Given the description of an element on the screen output the (x, y) to click on. 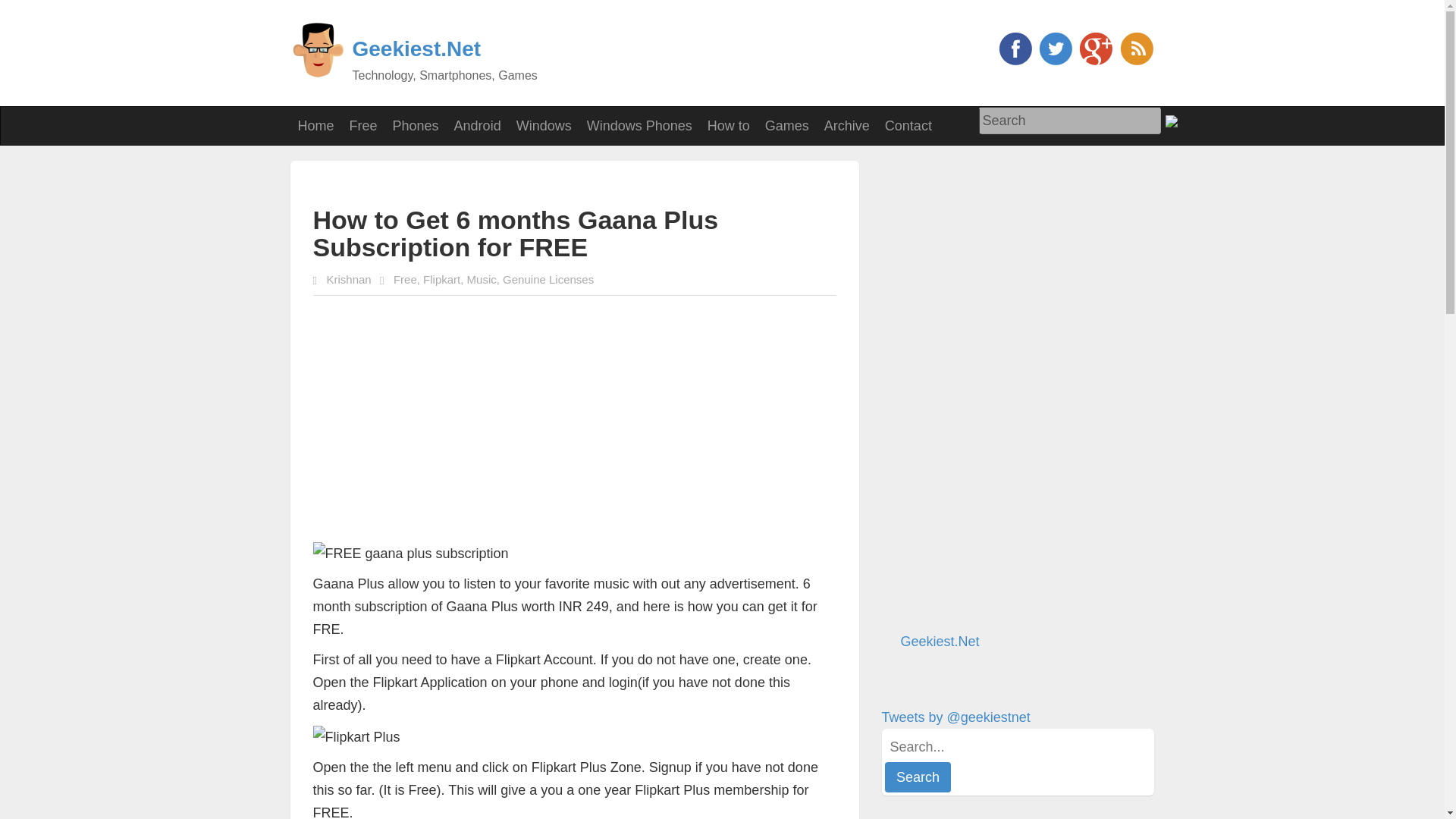
Search (1069, 120)
Archive (846, 125)
Krishnan (348, 278)
Free (404, 278)
Geekiest.Net (940, 641)
Contact (908, 125)
Games (786, 125)
Home (314, 125)
Windows Phones (639, 125)
Windows (543, 125)
